Given the description of an element on the screen output the (x, y) to click on. 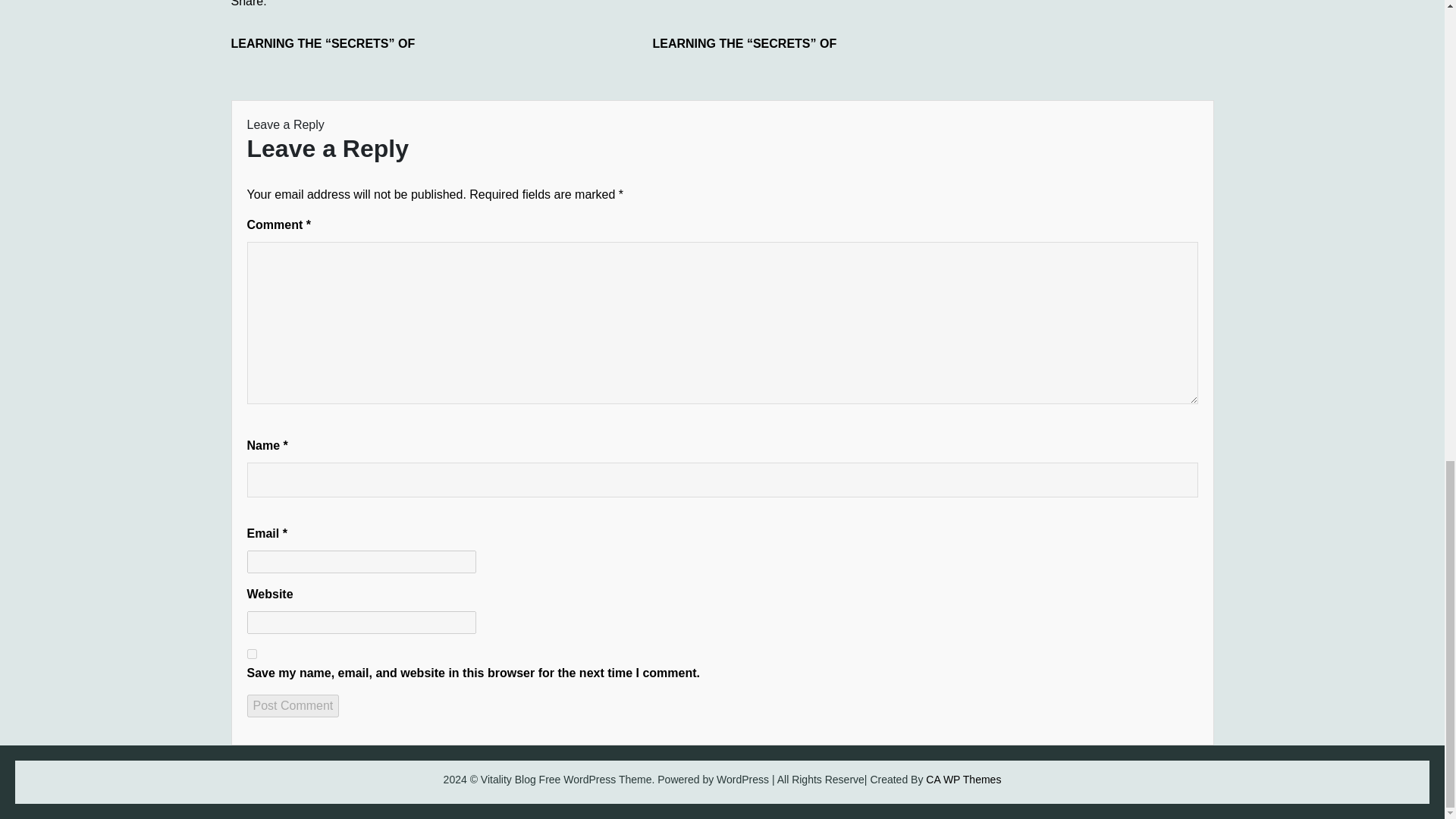
CA WP Themes (963, 779)
Post Comment (293, 705)
yes (252, 654)
Post Comment (293, 705)
